Given the description of an element on the screen output the (x, y) to click on. 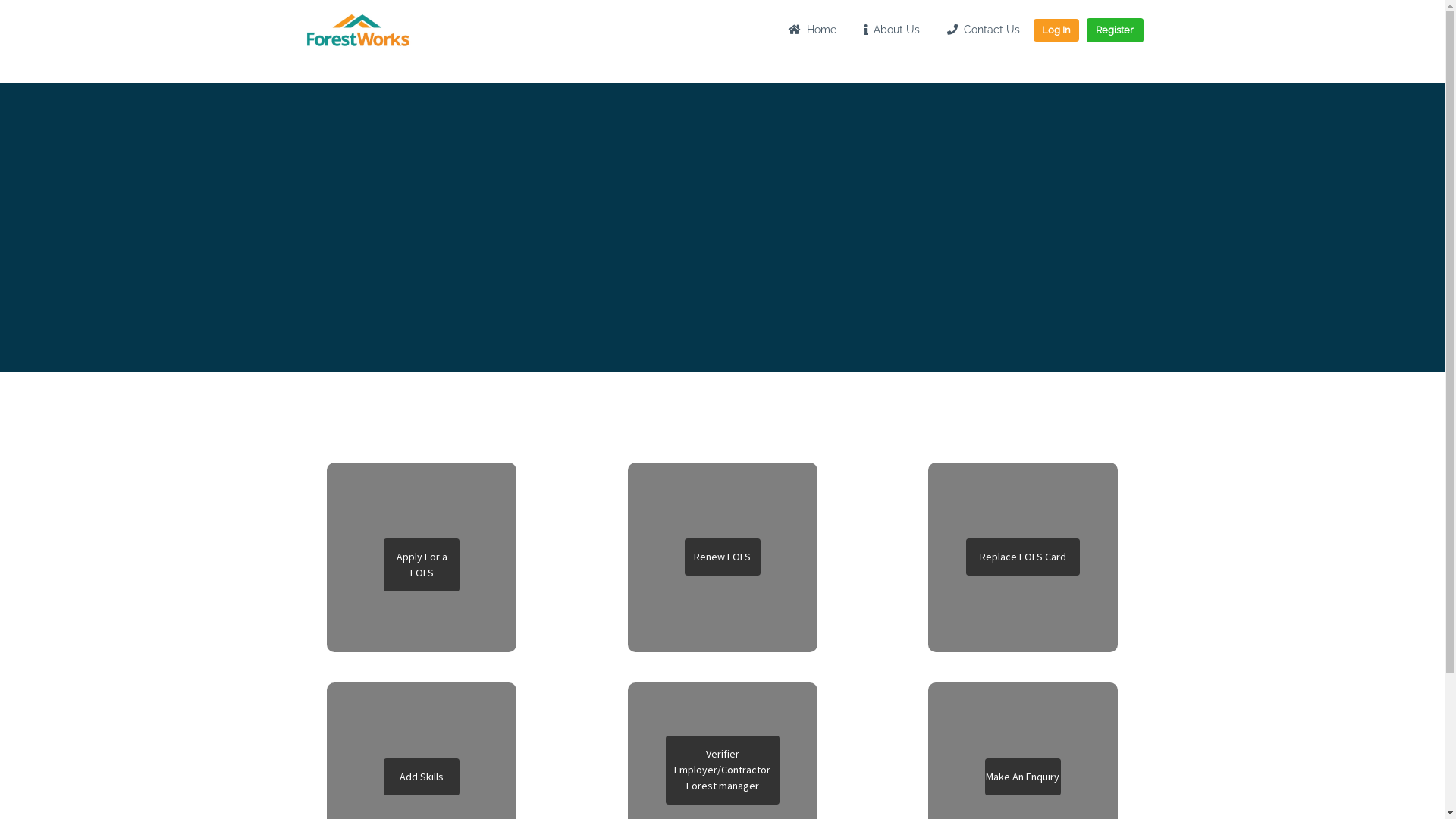
  Contact Us Element type: text (982, 29)
Log In Element type: text (1055, 30)
Apply For a FOLS
Apply For a FOLS
$165(Incl GST) Element type: text (421, 557)
  About Us Element type: text (890, 29)
Replace FOLS Card
Damage/Replace FOLS Card
$38.5 (Incl GST) Element type: text (1022, 557)
Register Element type: text (1114, 30)
  Home Element type: text (812, 29)
Renew FOLS
Renew FOLS
$165(Incl GST) Element type: text (722, 557)
